Given the description of an element on the screen output the (x, y) to click on. 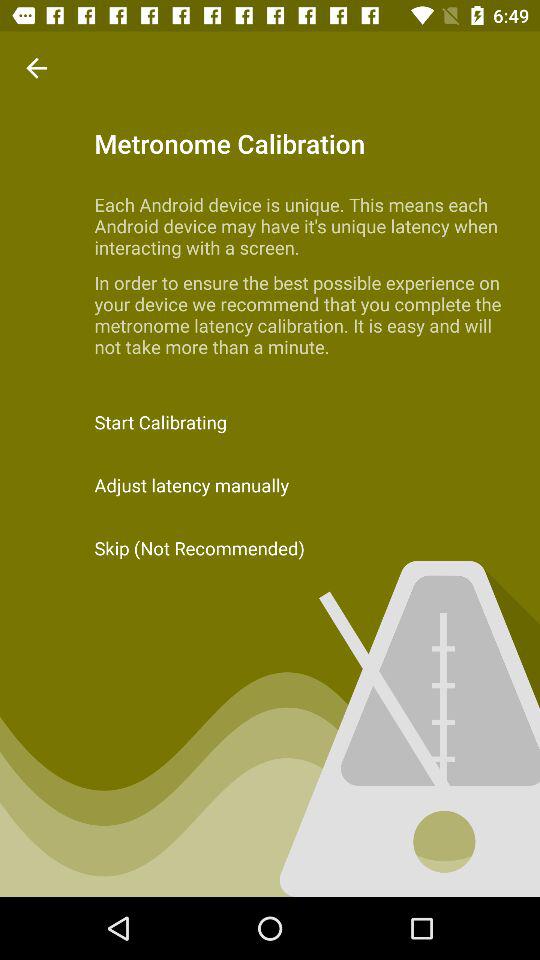
choose the start calibrating item (270, 421)
